Given the description of an element on the screen output the (x, y) to click on. 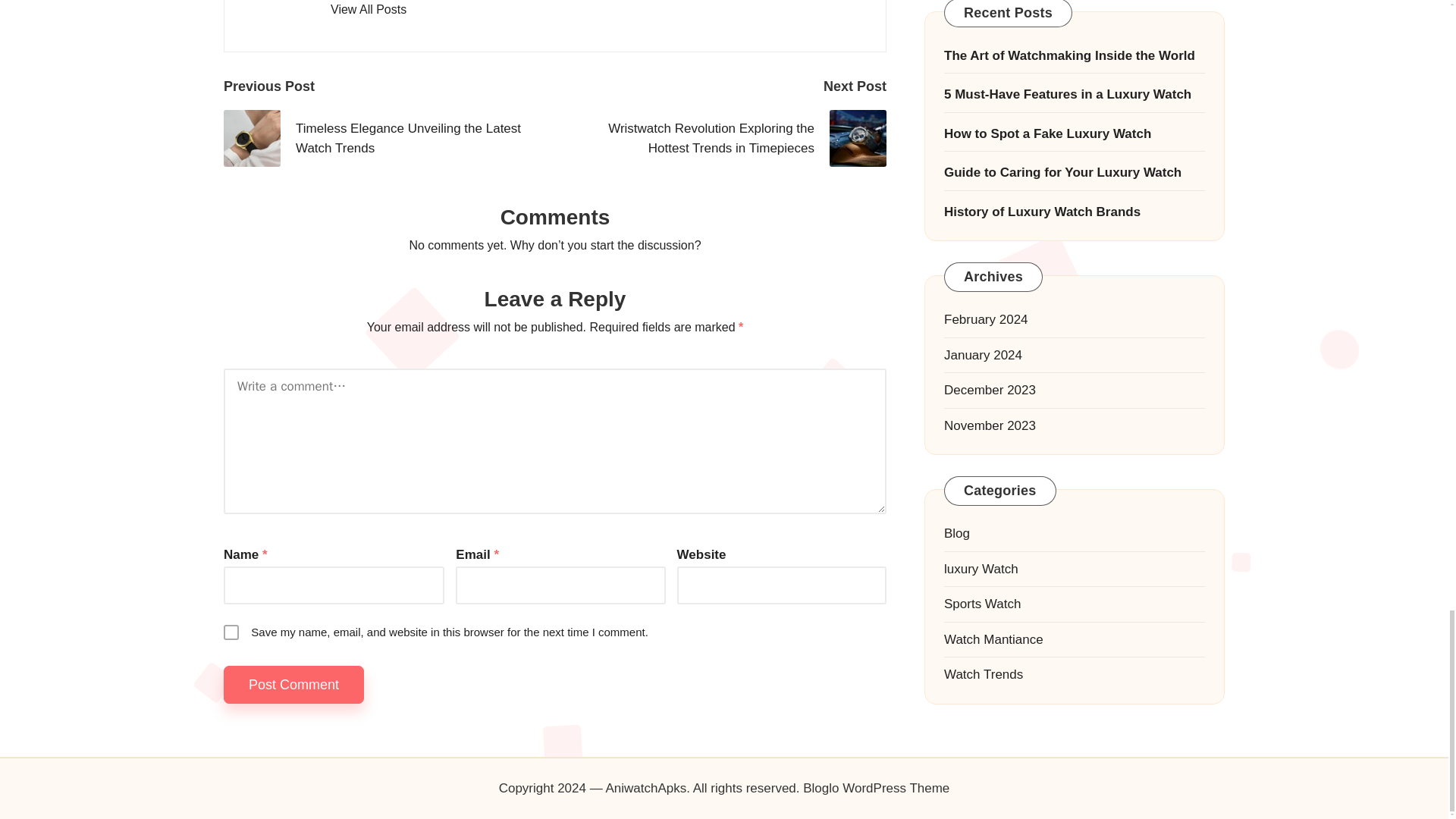
yes (231, 631)
Post Comment (294, 684)
